Given the description of an element on the screen output the (x, y) to click on. 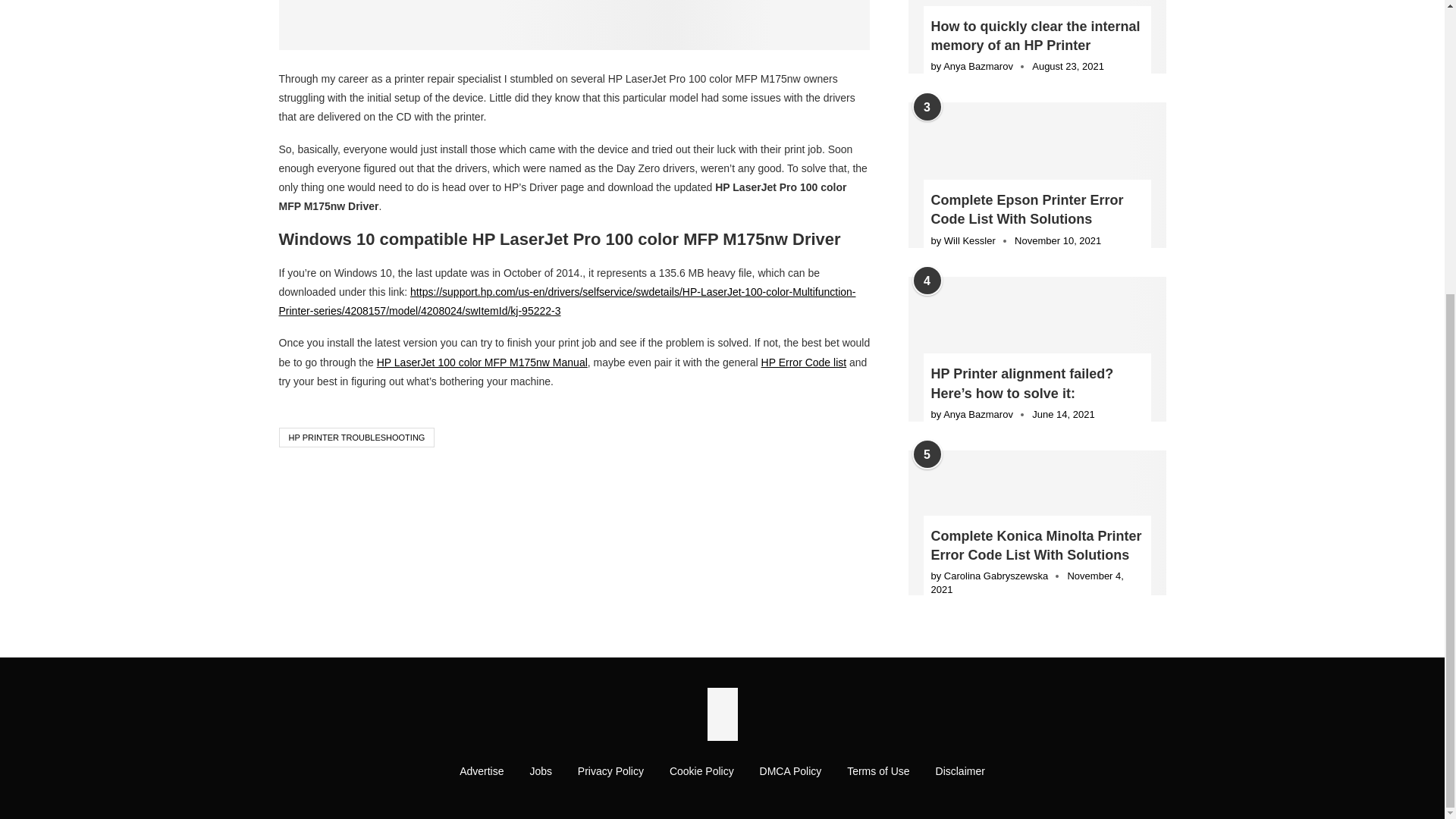
HP-LaserJet-Pro-100-color-MFP-M175nw-Imaging-Drum (574, 24)
How to quickly clear the internal memory of an HP Printer (1037, 36)
How to quickly clear the internal memory of an HP Printer (1036, 36)
Complete Epson Printer Error Code List With Solutions (1037, 174)
Complete Epson Printer Error Code List With Solutions (1036, 209)
